Given the description of an element on the screen output the (x, y) to click on. 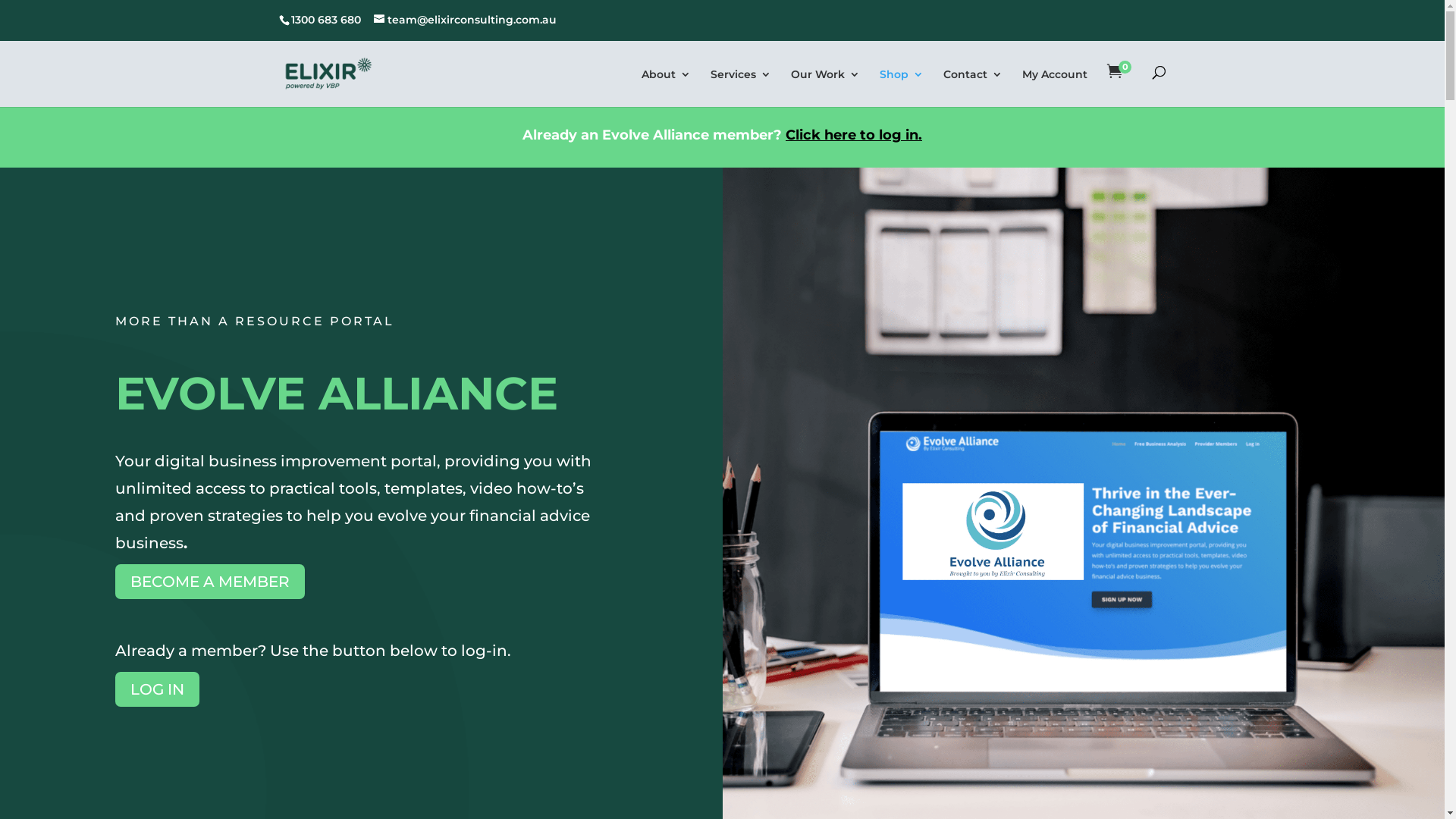
Contact Element type: text (972, 86)
BECOME A MEMBER Element type: text (209, 581)
Click here to log in. Element type: text (853, 134)
About Element type: text (665, 86)
My Account Element type: text (1054, 86)
Our Work Element type: text (824, 86)
Shop Element type: text (901, 86)
LOG IN Element type: text (157, 688)
team@elixirconsulting.com.au Element type: text (464, 19)
Services Element type: text (740, 86)
